Given the description of an element on the screen output the (x, y) to click on. 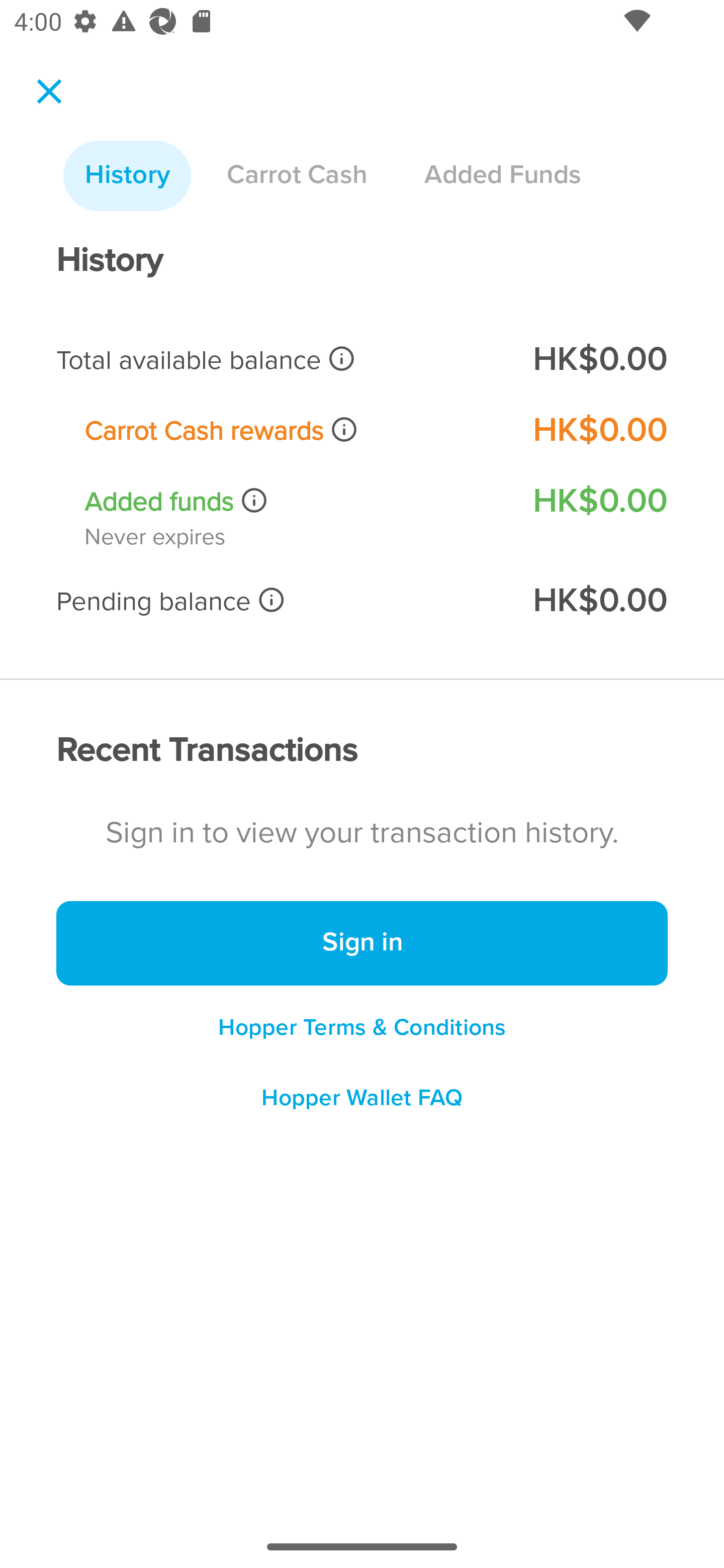
Navigate up (49, 91)
‍History (127, 176)
‍Carrot Cash (296, 176)
‍Added Funds (502, 176)
‍HK$0.00 (599, 359)
‍Total available balance ​ (280, 359)
‍HK$0.00 (599, 430)
‍Carrot Cash rewards ​ (294, 430)
‍HK$0.00 (599, 500)
‍Added funds ​ (294, 501)
‍HK$0.00 (599, 601)
‍Pending balance ​ (280, 601)
‍Sign in (361, 943)
‍Hopper Terms & Conditions (361, 1027)
‍Hopper Wallet FAQ (361, 1104)
